Given the description of an element on the screen output the (x, y) to click on. 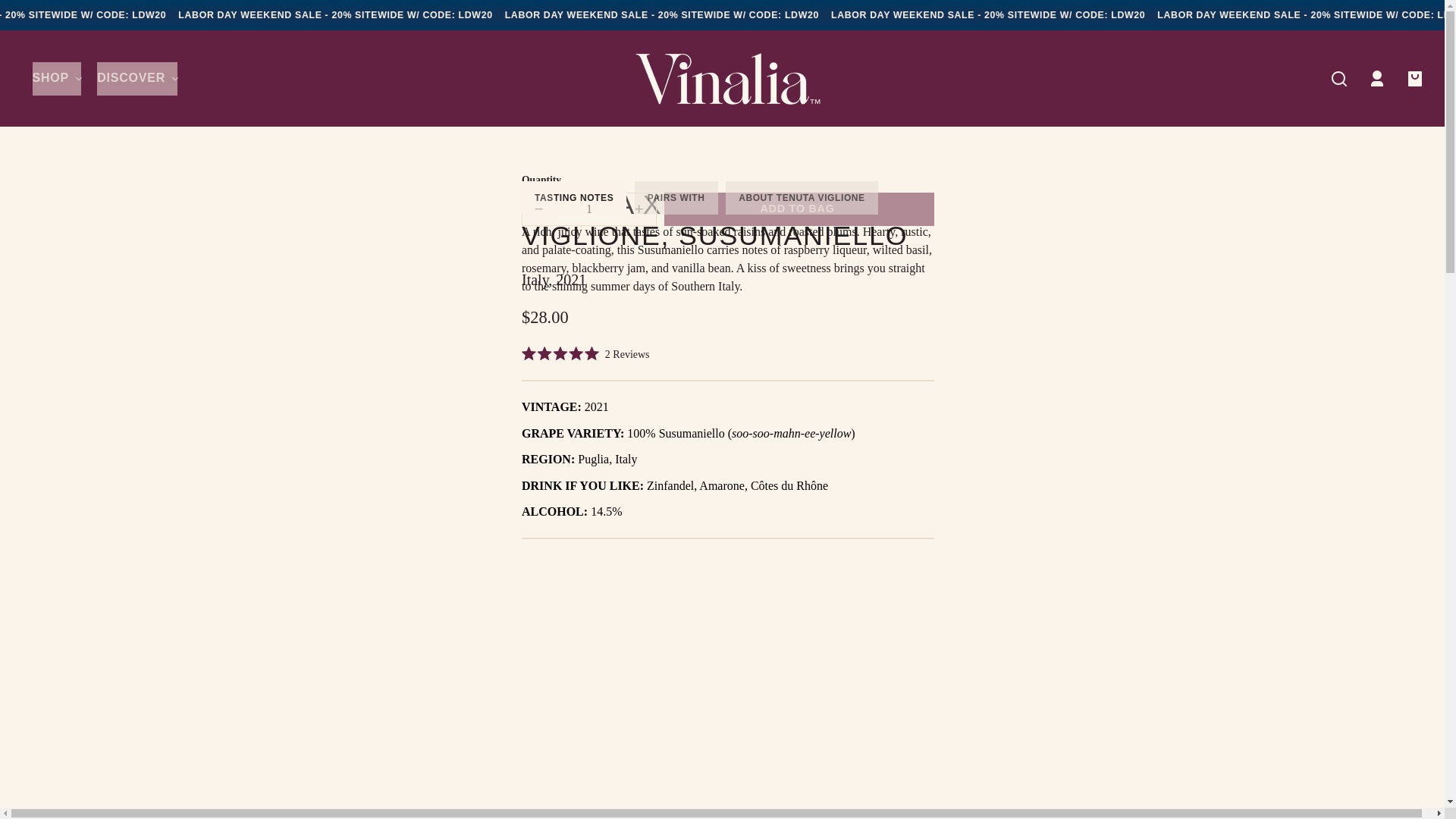
PAIRS WITH (675, 197)
SHOP (56, 78)
Log in (1376, 78)
SKIP TO PRODUCT INFORMATION (24, 180)
Your bag (1414, 78)
TASTING NOTES (573, 197)
ABOUT TENUTA VIGLIONE (801, 197)
SKIP TO CONTENT (25, 16)
VINALIA X TENUTA VIGLIONE, SUSUMANIELLO (727, 220)
ADD TO BAG (798, 209)
